Given the description of an element on the screen output the (x, y) to click on. 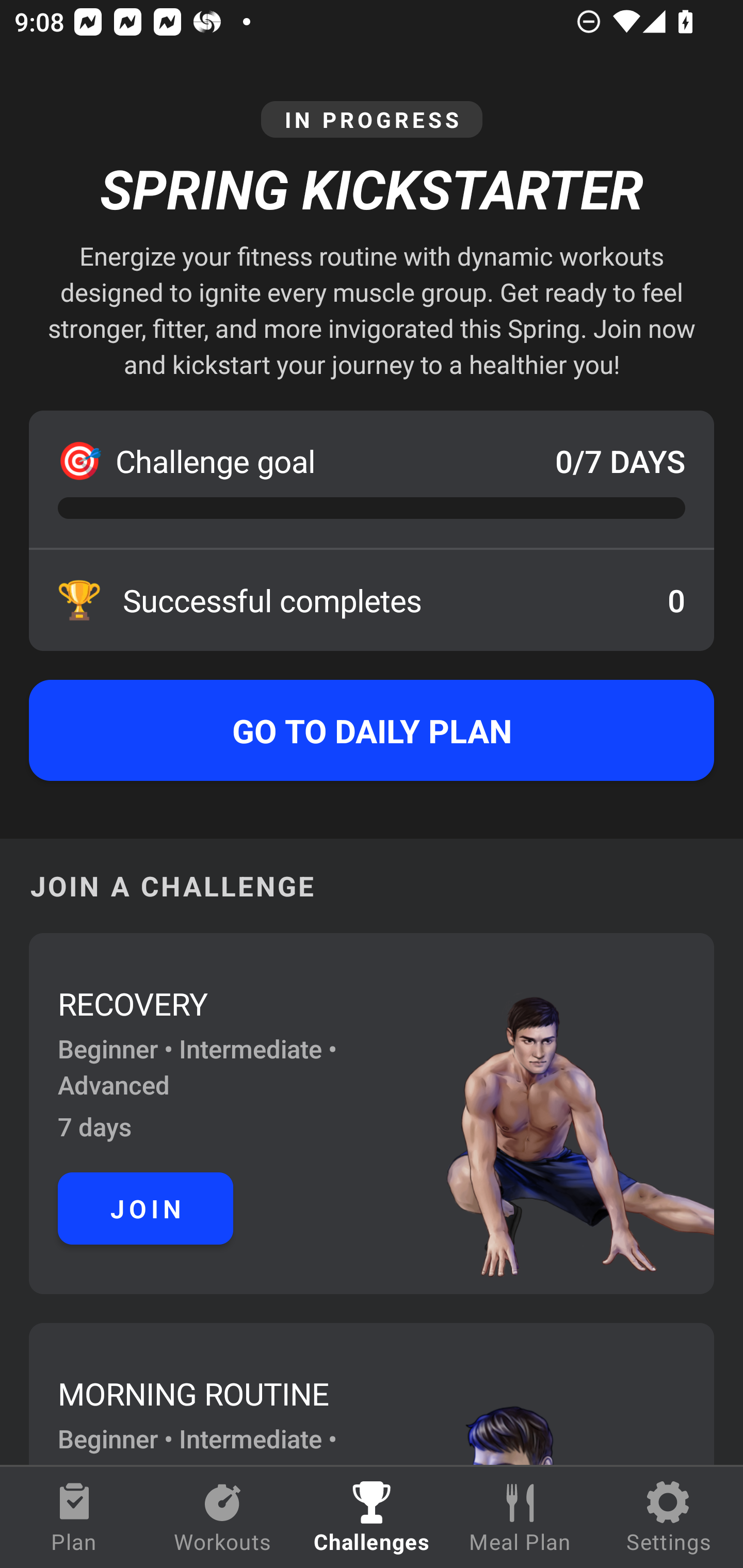
GO TO DAILY PLAN (371, 730)
JOIN (145, 1208)
 Plan  (74, 1517)
 Workouts  (222, 1517)
 Meal Plan  (519, 1517)
 Settings  (668, 1517)
